Given the description of an element on the screen output the (x, y) to click on. 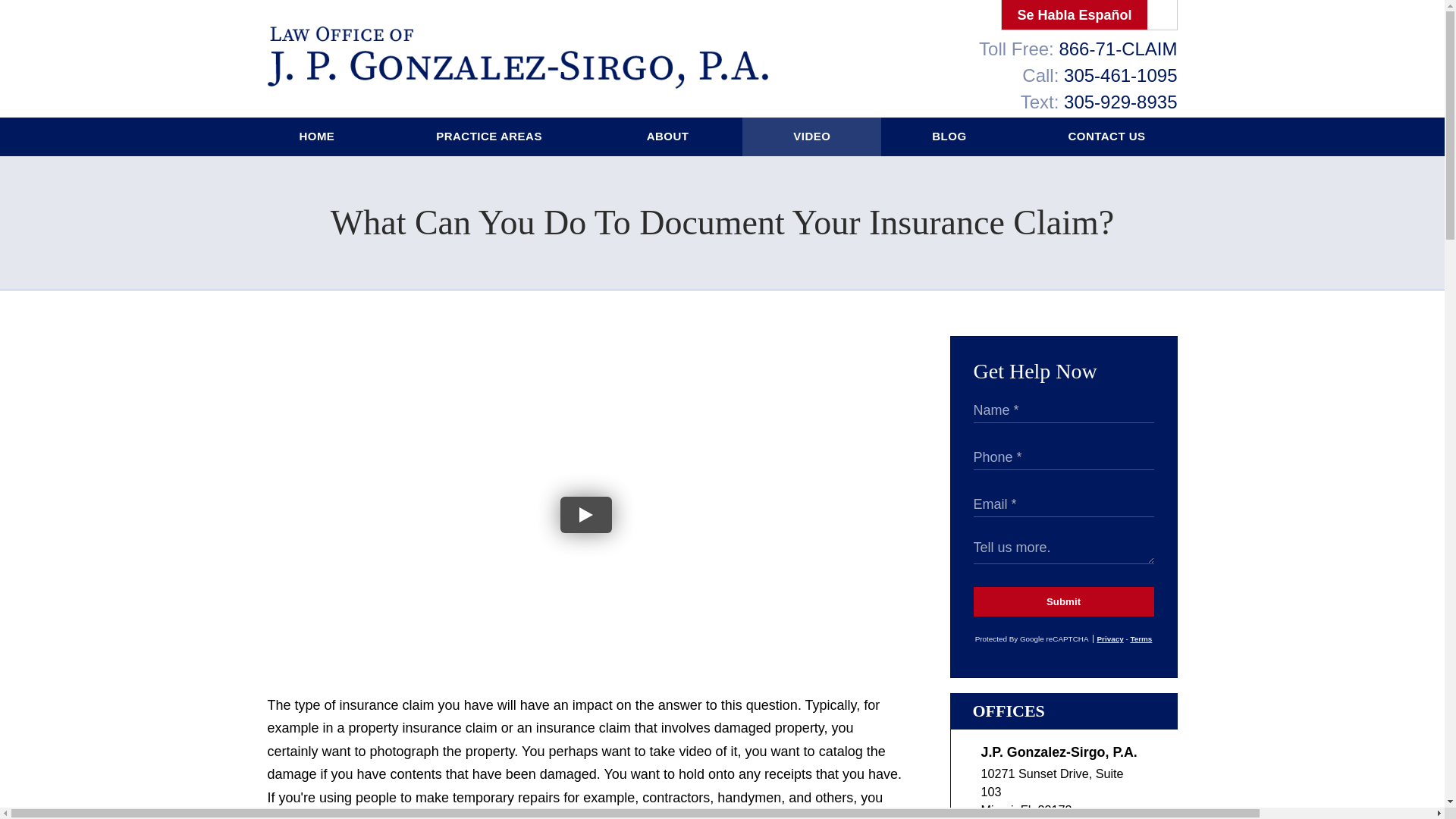
Search (1161, 15)
PRACTICE AREAS (490, 136)
866-71-CLAIM (1117, 48)
ABOUT (668, 136)
CONTACT US (1105, 136)
BLOG (948, 136)
VIDEO (811, 136)
305-461-1095 (1120, 75)
305-929-8935 (1120, 101)
HOME (316, 136)
